Given the description of an element on the screen output the (x, y) to click on. 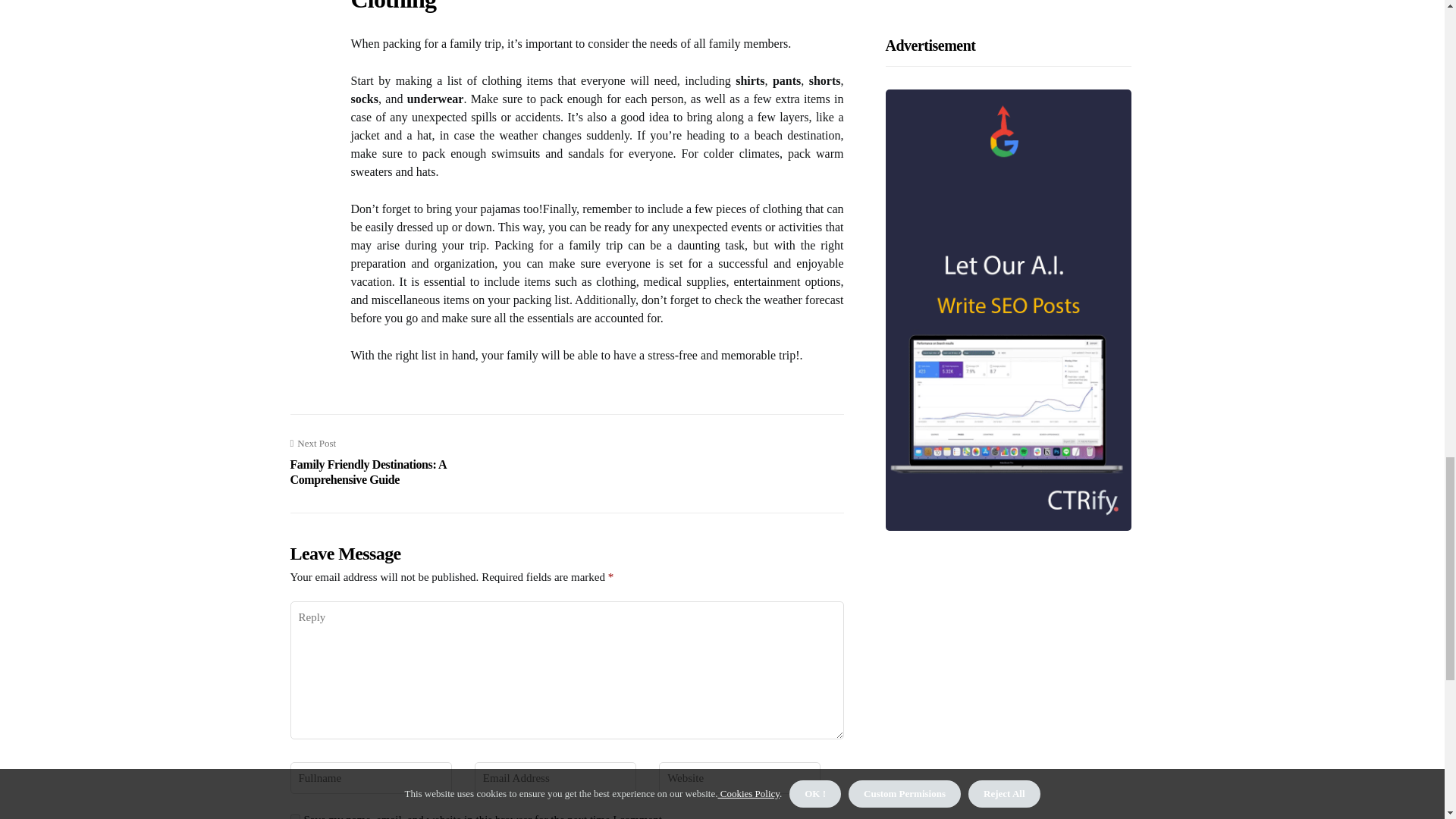
yes (294, 816)
